Given the description of an element on the screen output the (x, y) to click on. 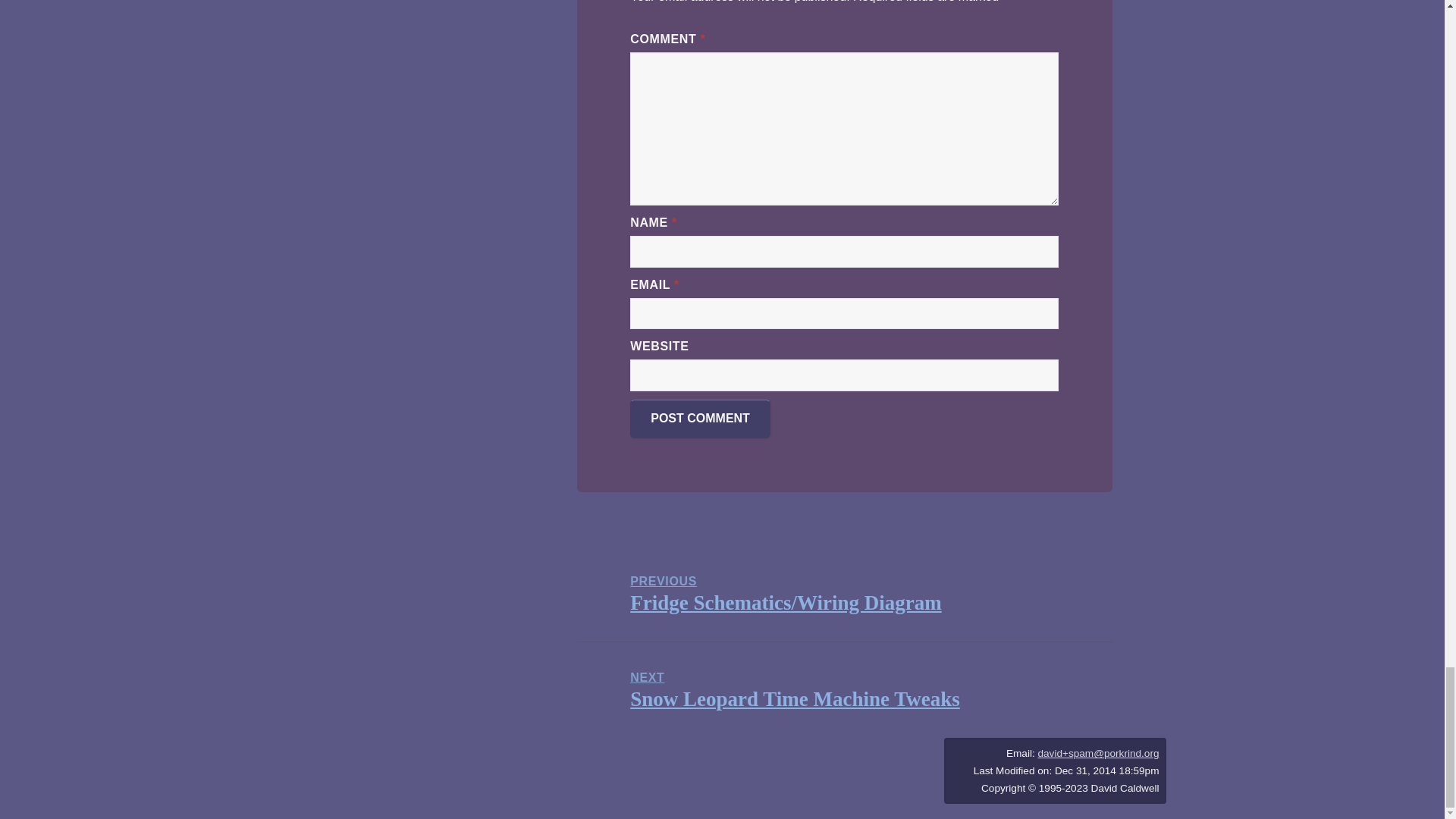
Post Comment (700, 418)
